Given the description of an element on the screen output the (x, y) to click on. 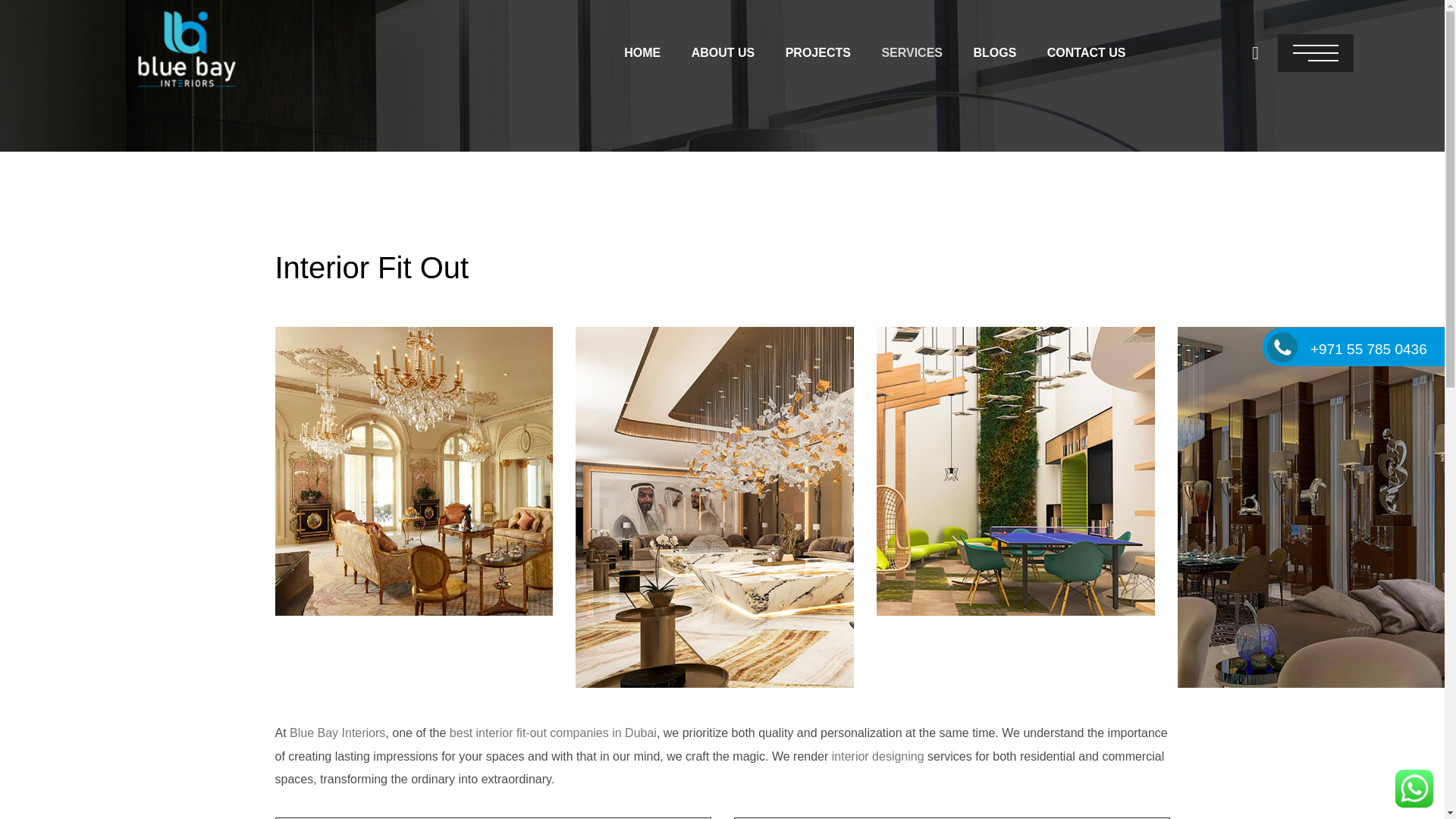
SERVICES (911, 53)
CONTACT US (1086, 53)
PROJECTS (817, 53)
ABOUT US (723, 53)
